Given the description of an element on the screen output the (x, y) to click on. 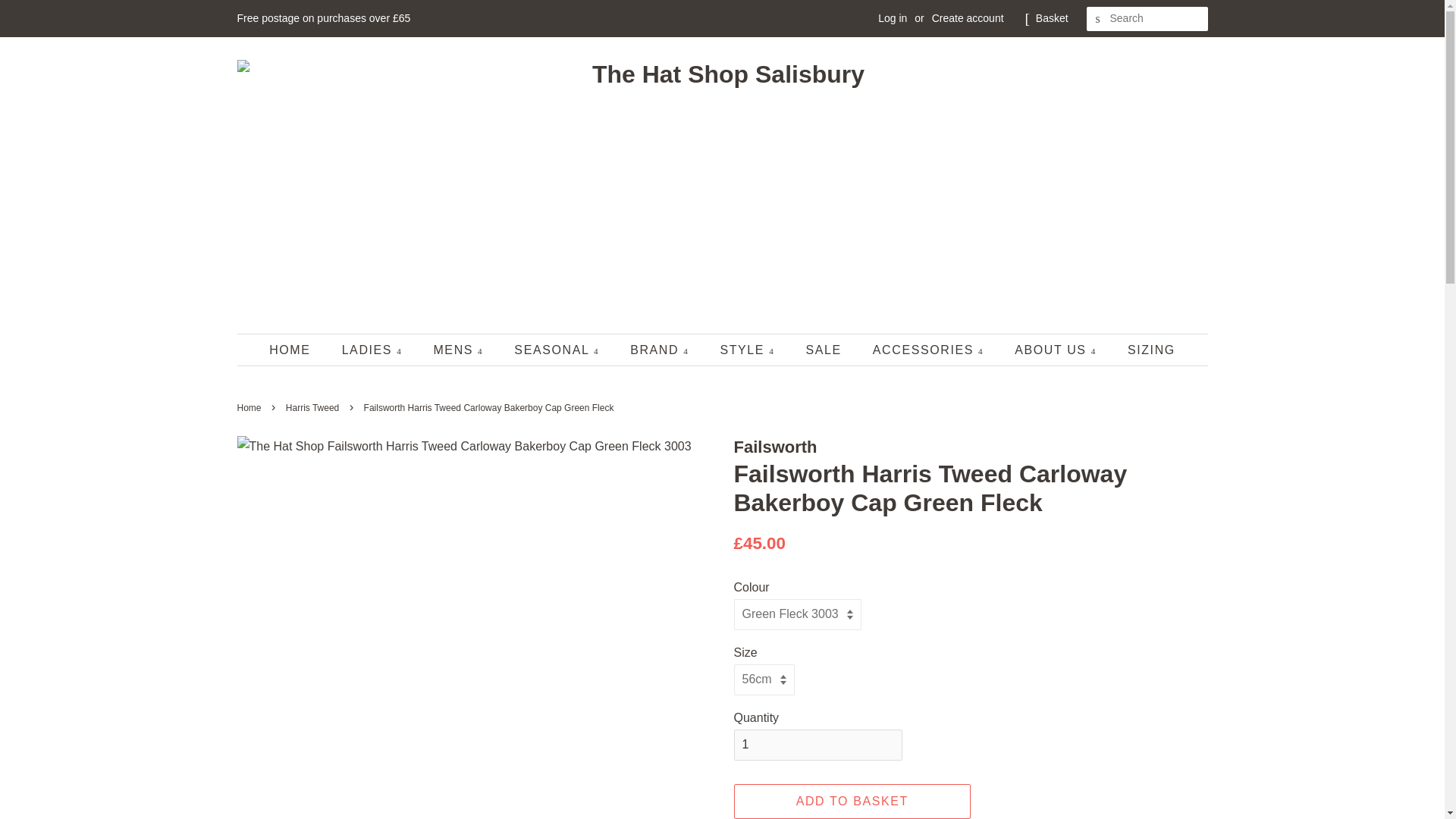
Log in (892, 18)
Create account (967, 18)
Basket (1051, 18)
SEARCH (1097, 18)
1 (817, 744)
Back to the frontpage (249, 407)
